Given the description of an element on the screen output the (x, y) to click on. 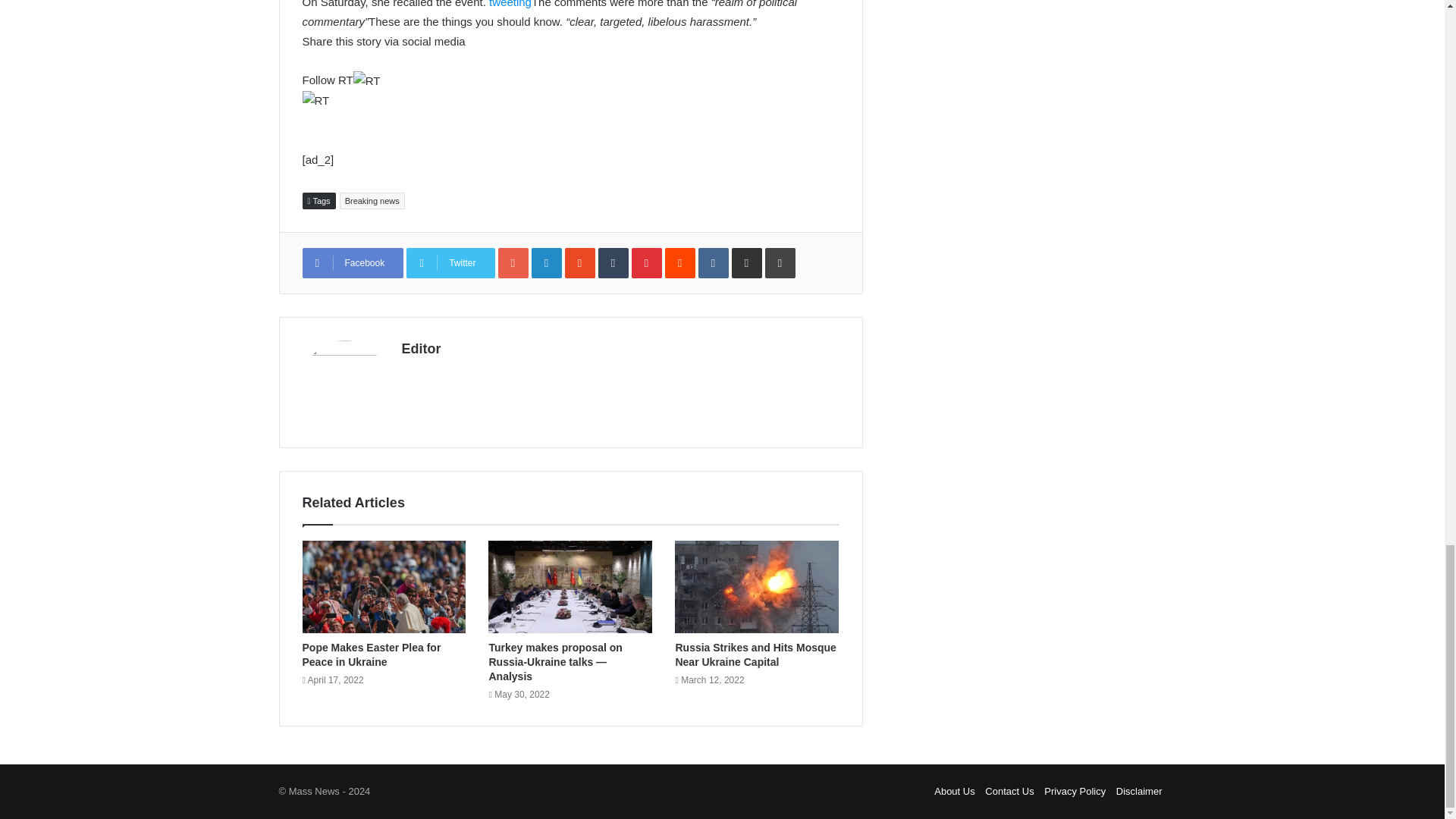
Share via Email (746, 263)
VKontakte (713, 263)
Pinterest (646, 263)
Twitter (450, 263)
LinkedIn (546, 263)
Breaking news (371, 200)
Tumblr (613, 263)
Facebook (352, 263)
StumbleUpon (579, 263)
tweeting (510, 4)
